Given the description of an element on the screen output the (x, y) to click on. 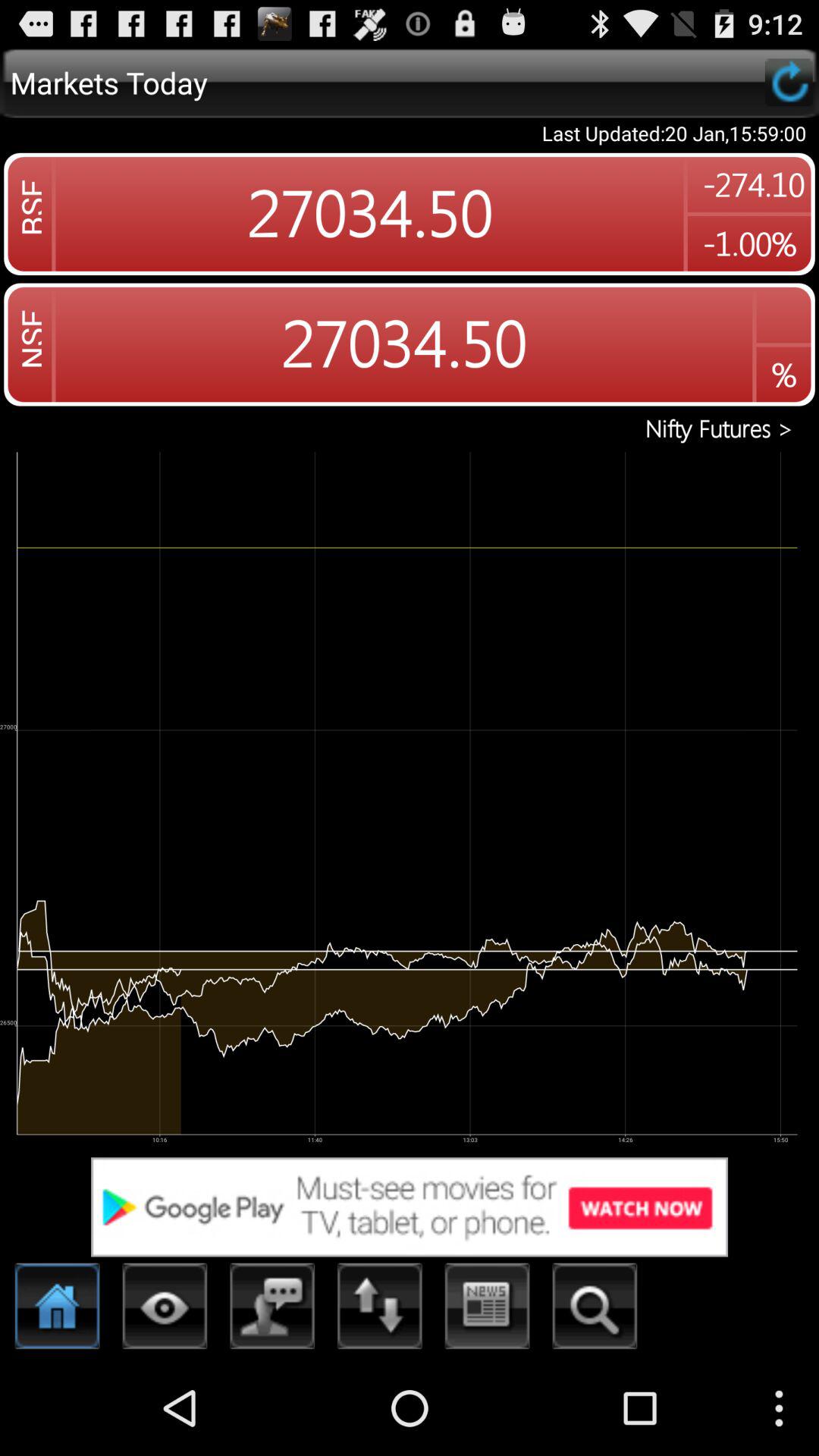
google search (409, 1206)
